Given the description of an element on the screen output the (x, y) to click on. 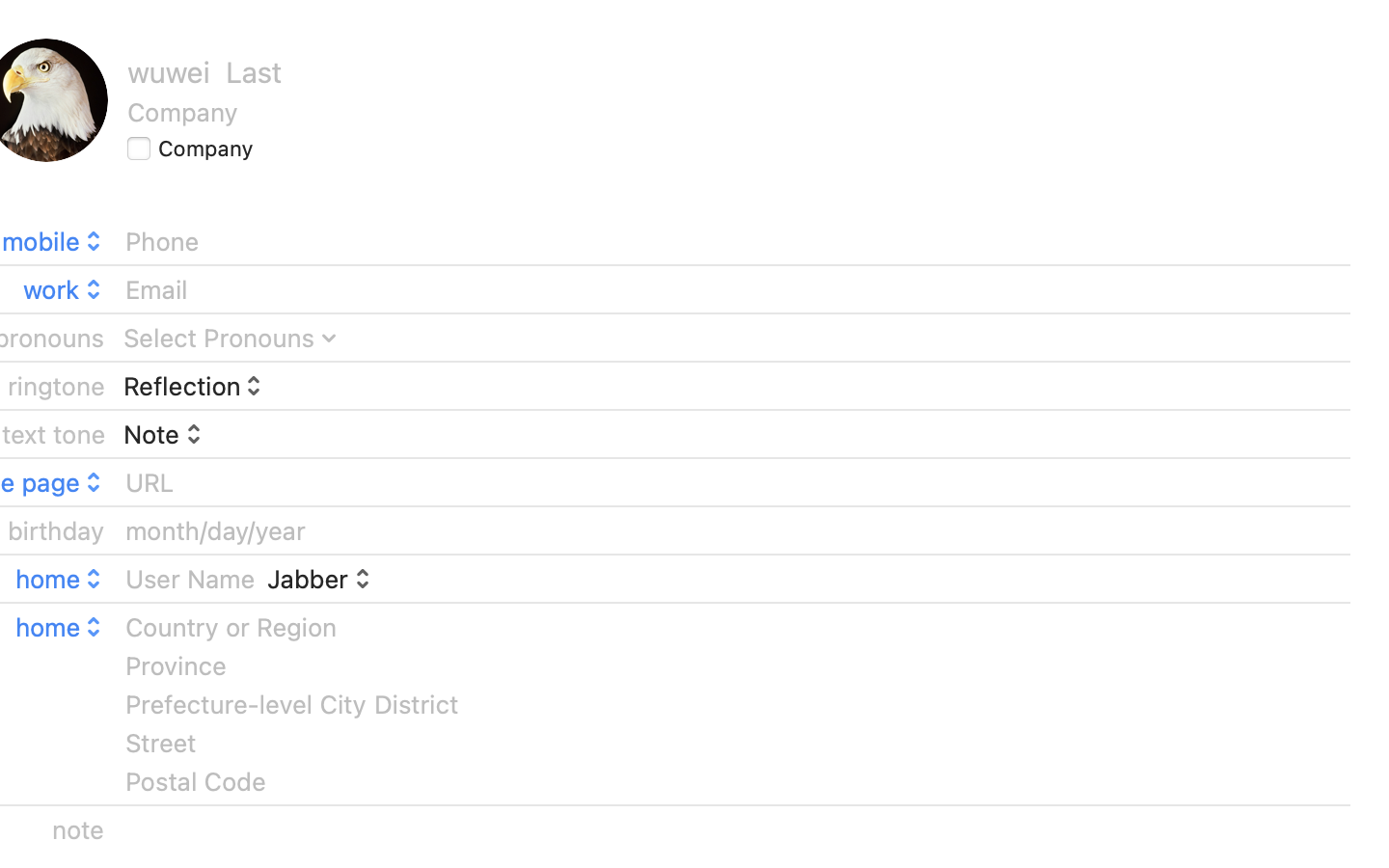
Jabber Element type: AXStaticText (320, 578)
home Element type: AXStaticText (60, 578)
work Element type: AXStaticText (64, 288)
birthday Element type: AXStaticText (56, 530)
